Given the description of an element on the screen output the (x, y) to click on. 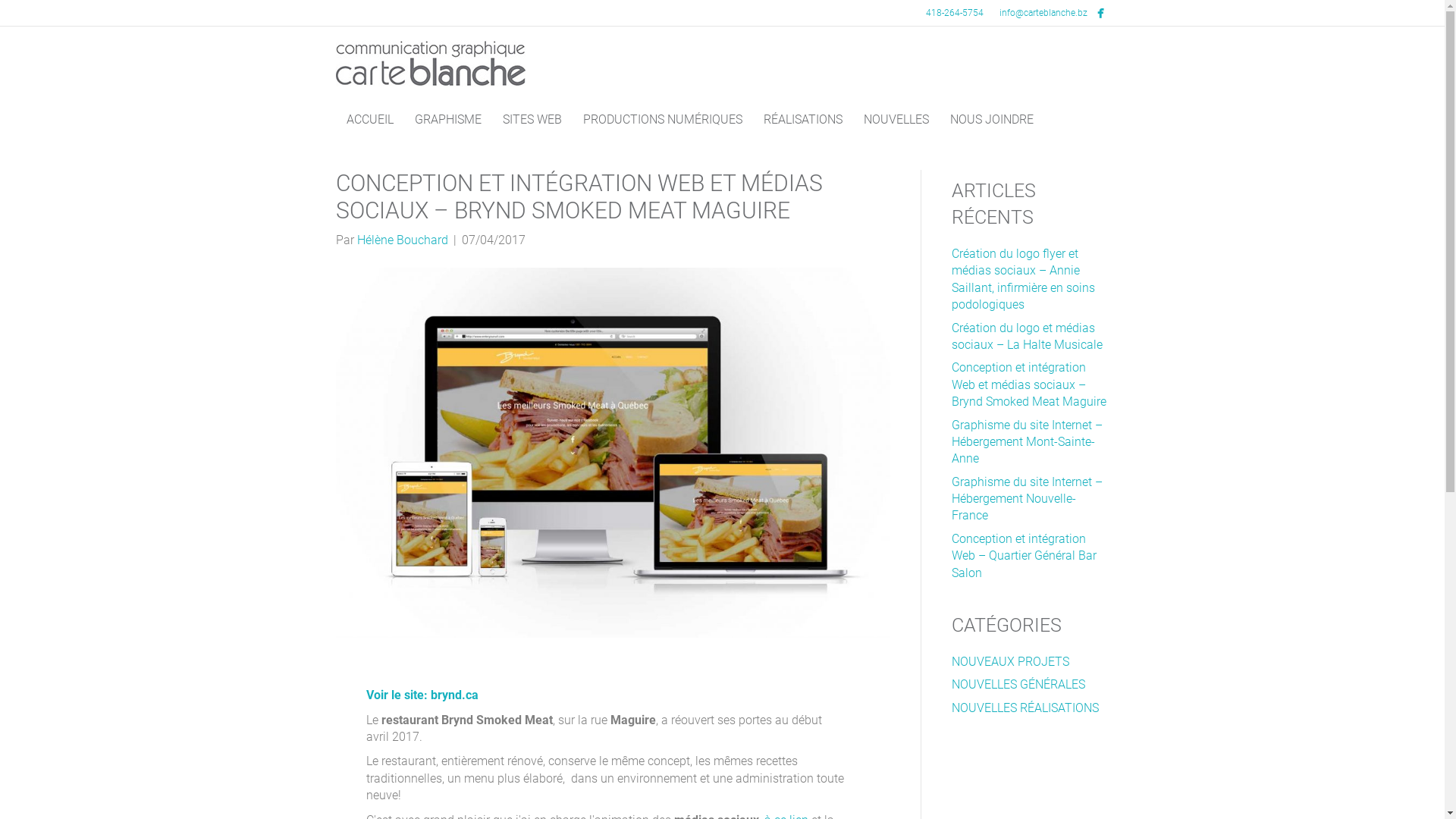
Nouvelles Element type: text (890, 714)
NOUS JOINDRE Element type: text (990, 119)
ACCUEIL Element type: text (369, 119)
Graphisme Element type: text (530, 714)
Sites web Element type: text (741, 714)
SITES WEB Element type: text (531, 119)
NOUVEAUX PROJETS Element type: text (1010, 661)
info@carteblanche.bz Element type: text (1041, 12)
Accueil Element type: text (464, 714)
NOUVELLES Element type: text (895, 119)
Voir le site: brynd.ca Element type: text (421, 694)
GRAPHISME Element type: text (447, 119)
info@carteblanche.bz Element type: text (865, 771)
418-264-5754 Element type: text (953, 12)
Communication Graphique Carte Blanche 2015 Element type: text (789, 796)
Nous joindre Element type: text (966, 714)
